Given the description of an element on the screen output the (x, y) to click on. 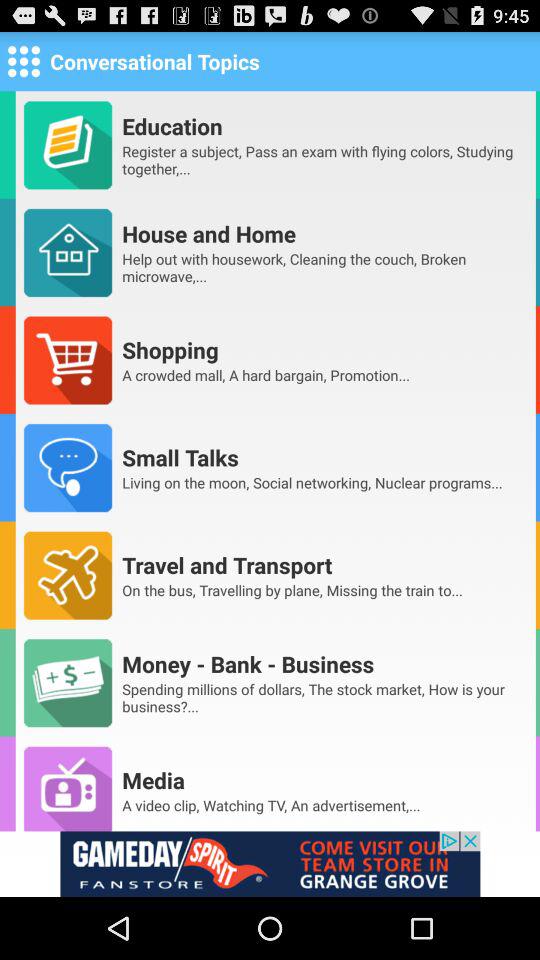
choose layout (23, 60)
